Given the description of an element on the screen output the (x, y) to click on. 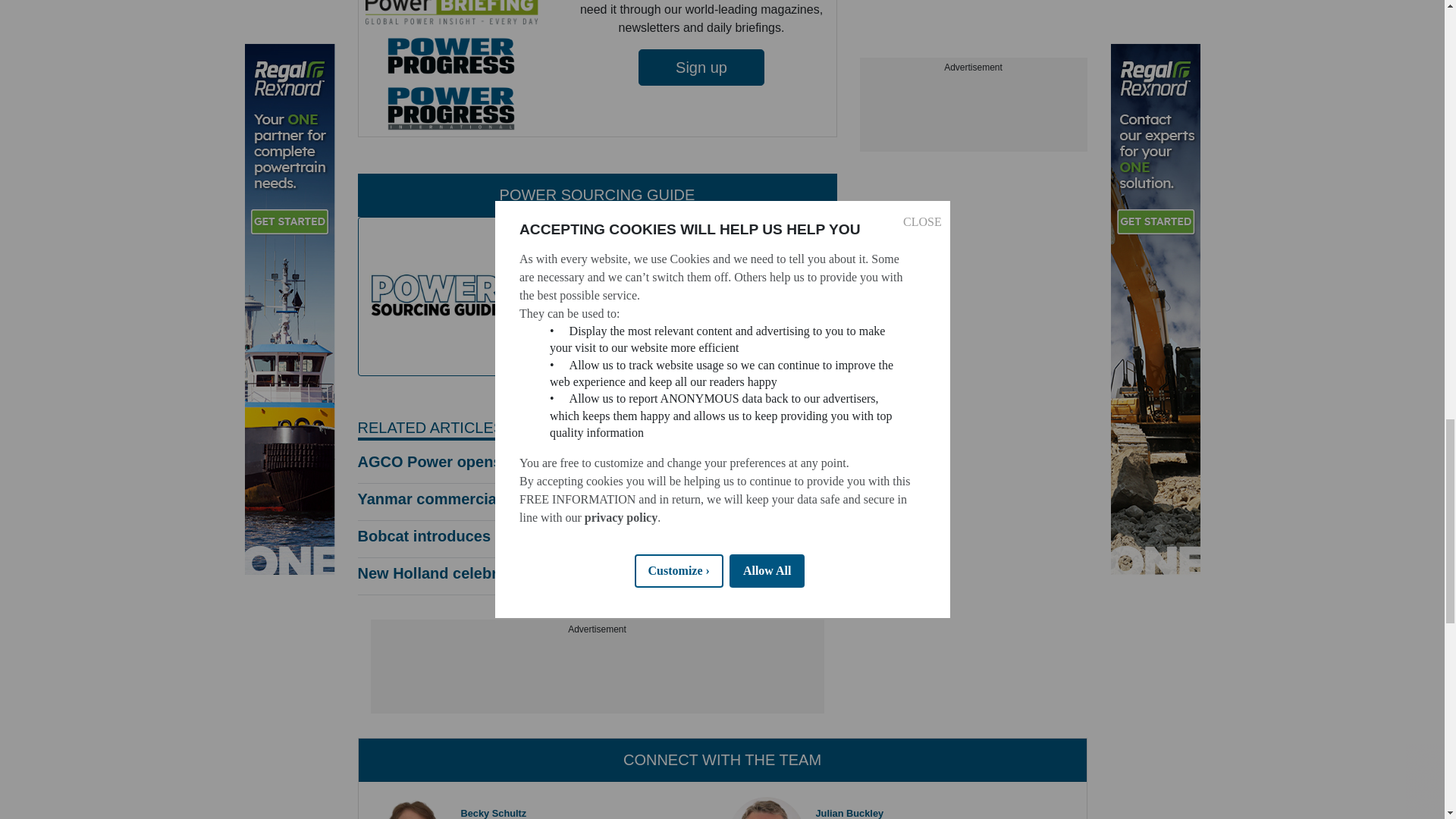
3rd party ad content (596, 675)
